Given the description of an element on the screen output the (x, y) to click on. 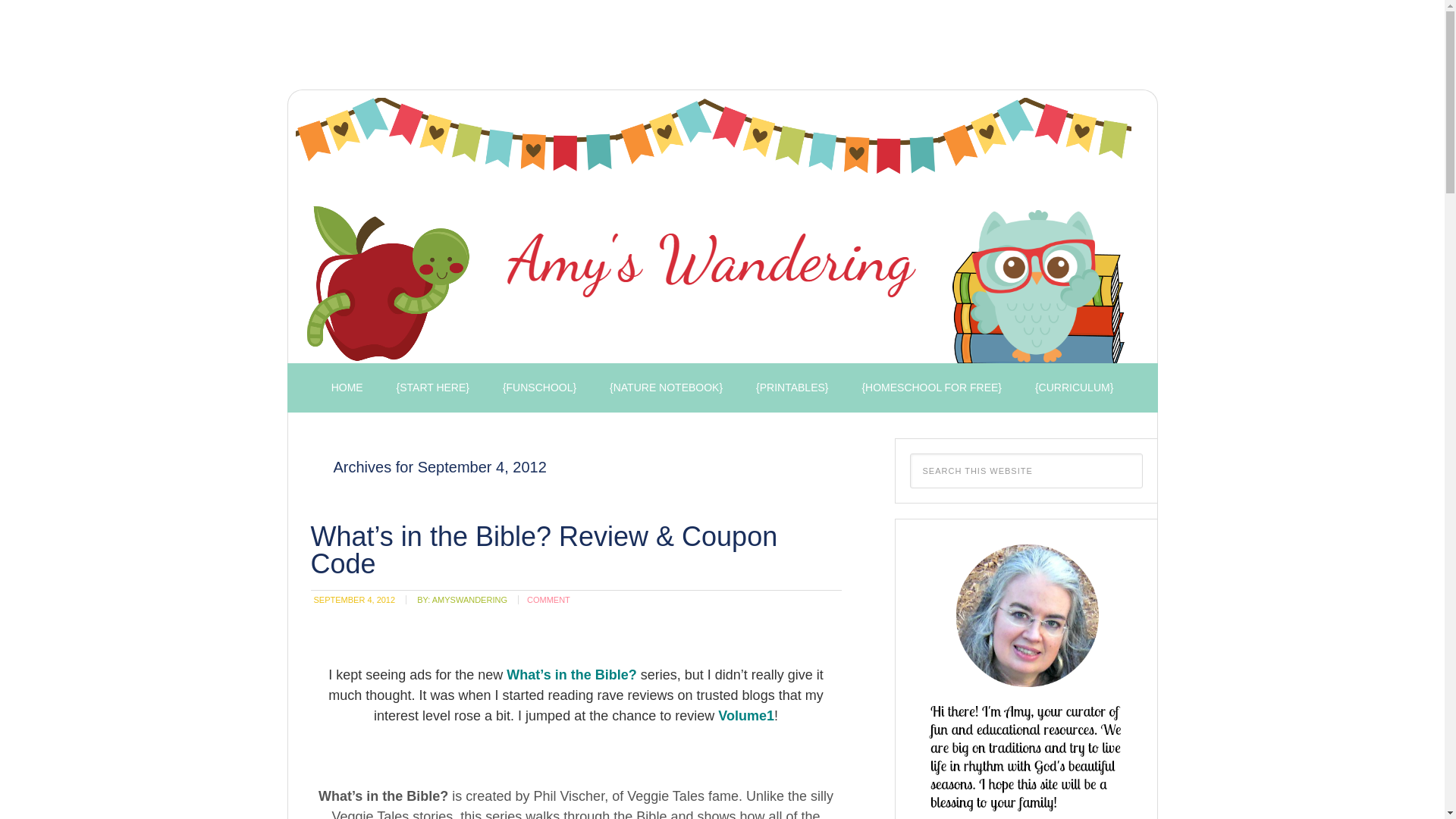
COMMENT (548, 599)
Volume1 (745, 715)
Advertisement (555, 49)
HOME (346, 387)
